Given the description of an element on the screen output the (x, y) to click on. 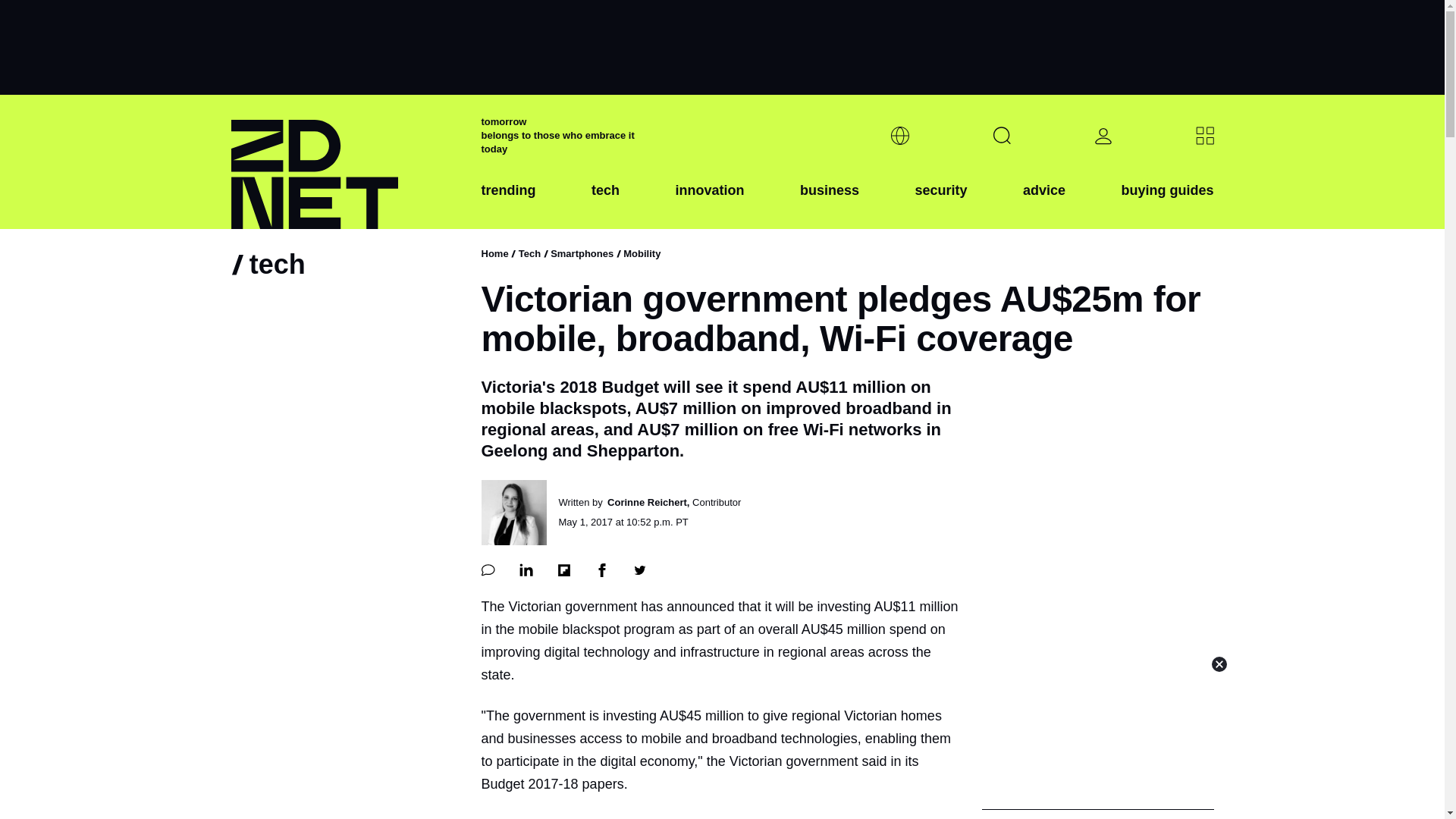
trending (507, 202)
ZDNET (346, 162)
